Given the description of an element on the screen output the (x, y) to click on. 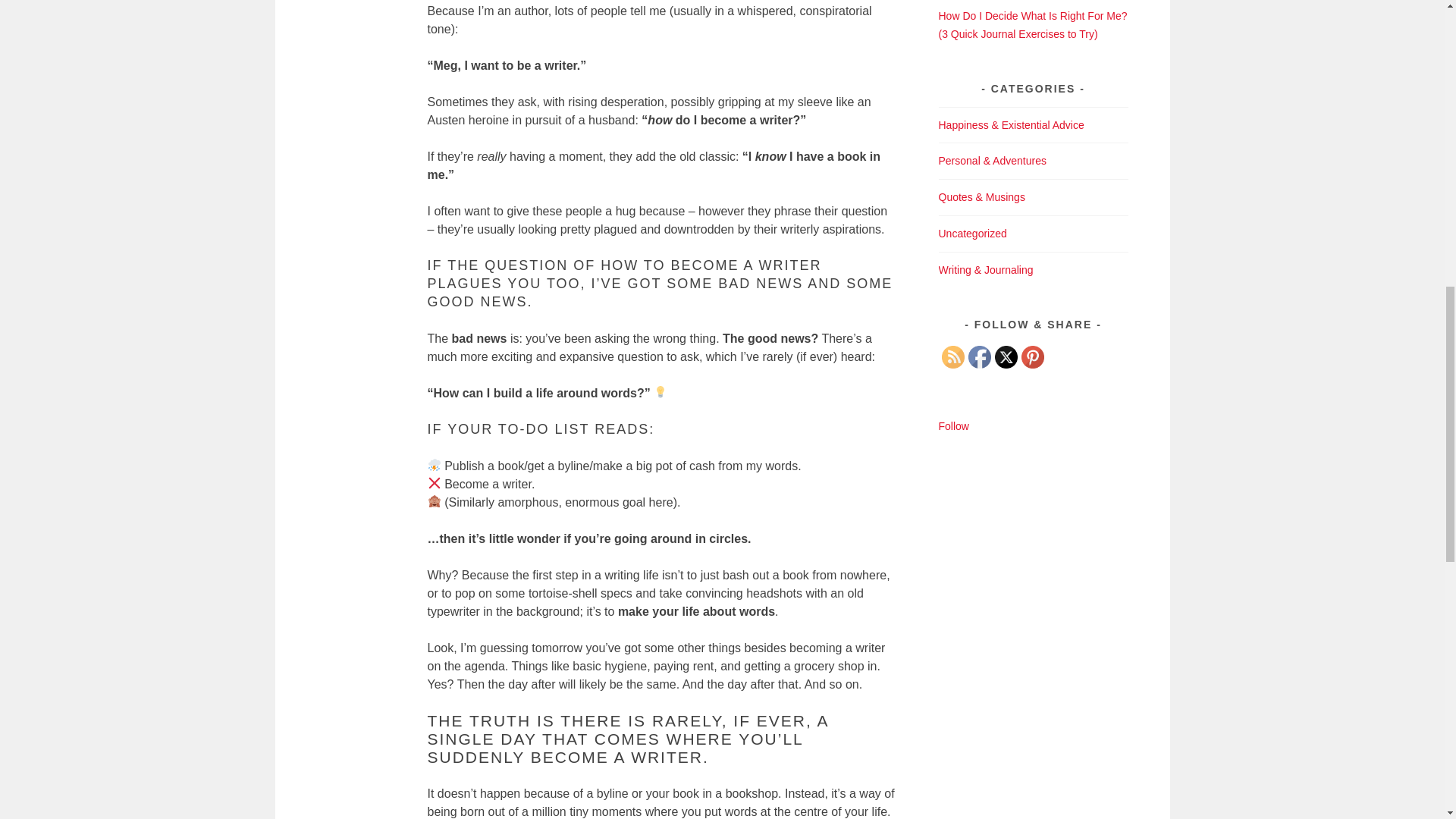
Pinterest (1031, 356)
Twitter (1005, 356)
Follow (954, 426)
RSS (952, 356)
Facebook (979, 356)
Uncategorized (973, 233)
